Given the description of an element on the screen output the (x, y) to click on. 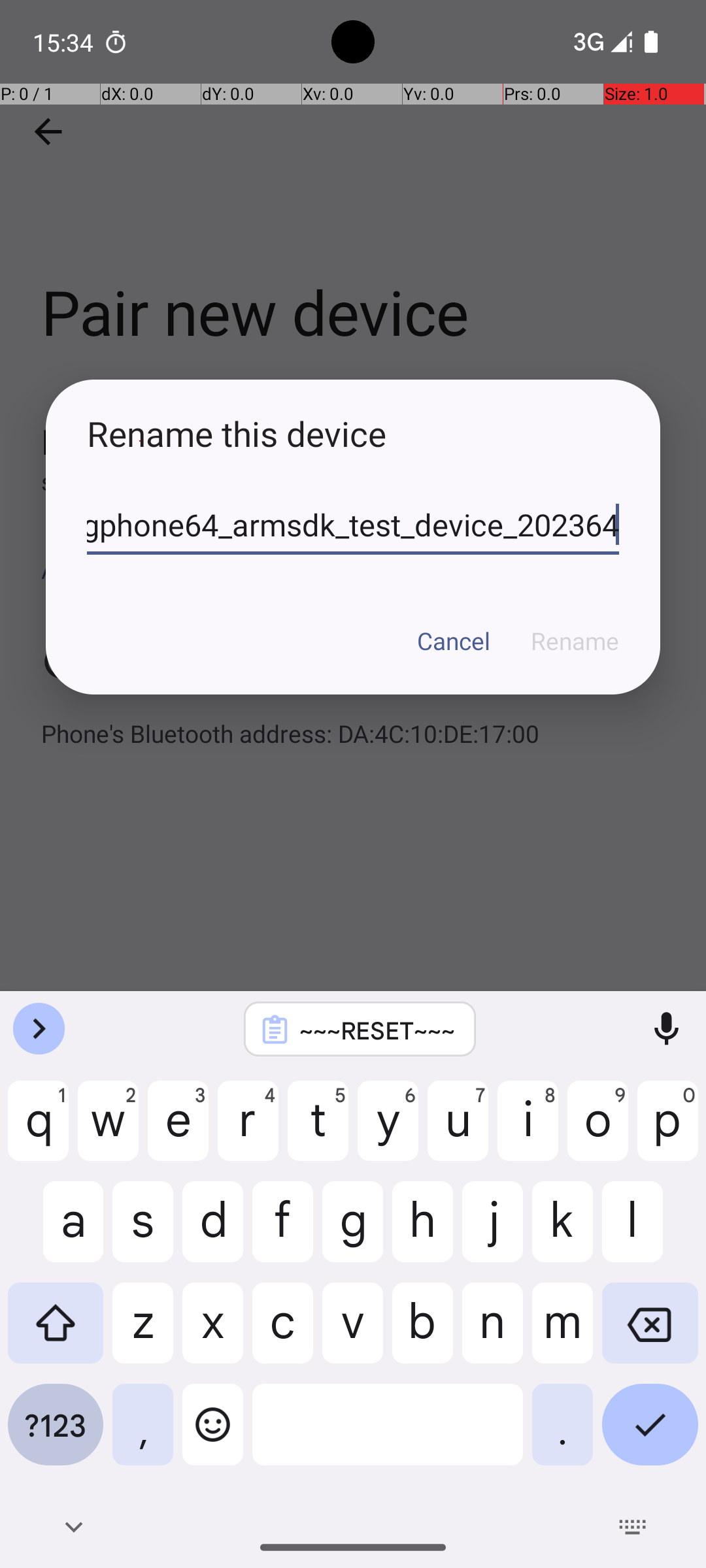
Rename this device Element type: android.widget.TextView (352, 433)
sdk_gphone64_armsdk_test_device_202364 Element type: android.widget.EditText (352, 525)
